Given the description of an element on the screen output the (x, y) to click on. 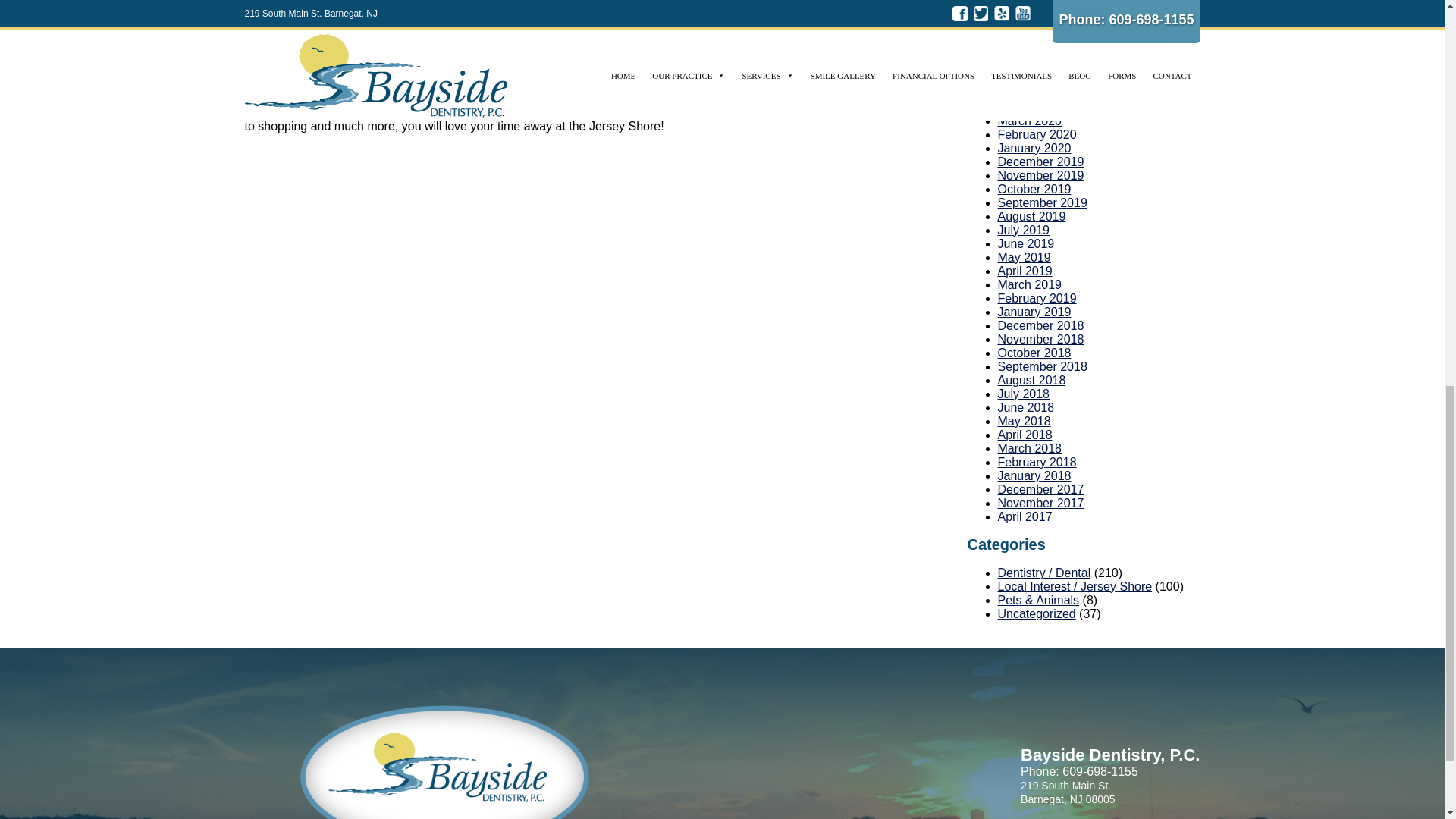
Manahawkin (645, 59)
Manahawkin (521, 6)
